Given the description of an element on the screen output the (x, y) to click on. 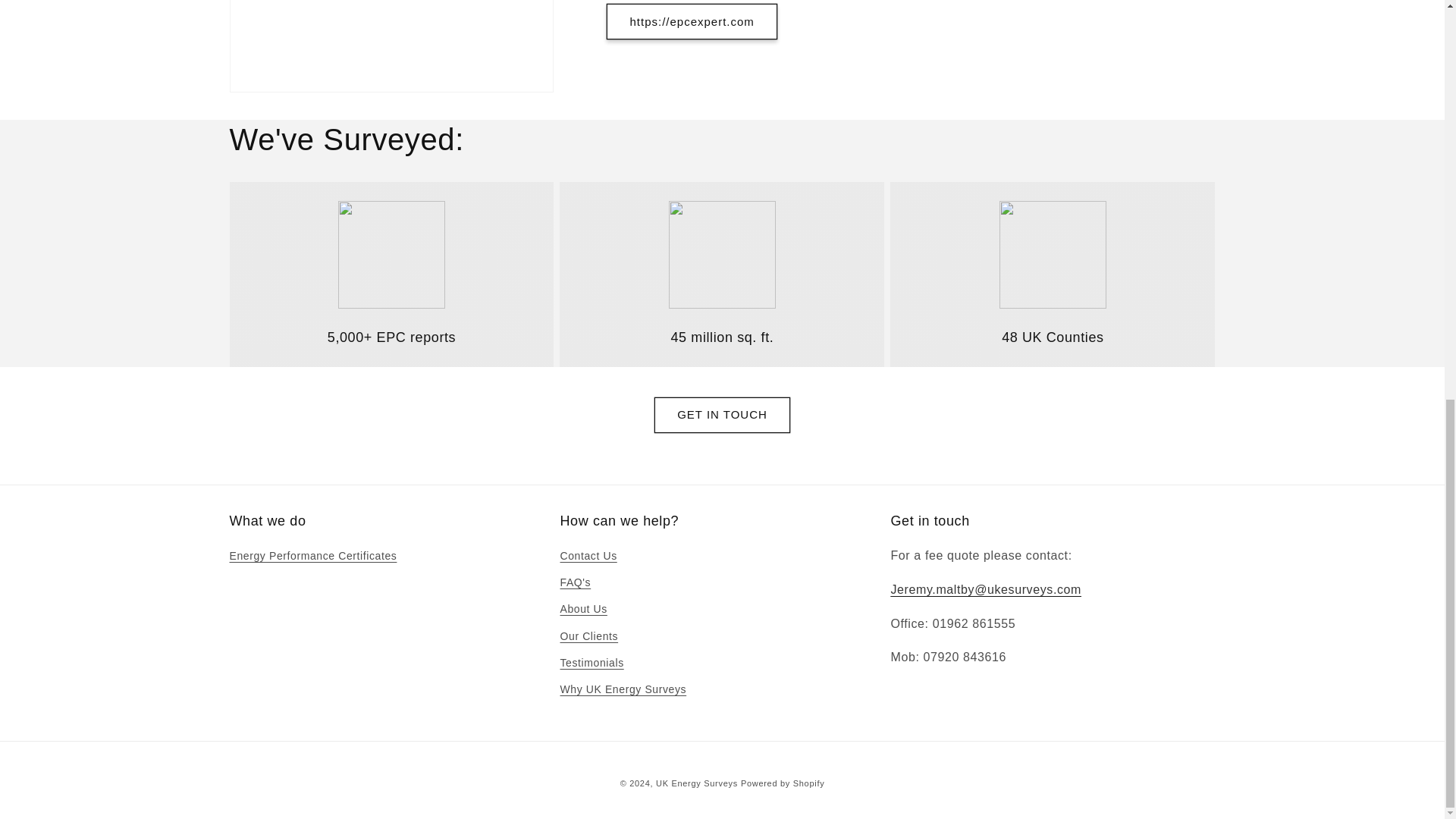
Why UK Energy Surveys (622, 689)
Contact Us (587, 558)
About Us (583, 609)
UK Energy Surveys (697, 782)
FAQ's (575, 582)
Energy Performance Certificates (312, 558)
GET IN TOUCH (721, 415)
Testimonials (591, 663)
Our Clients (588, 636)
